Given the description of an element on the screen output the (x, y) to click on. 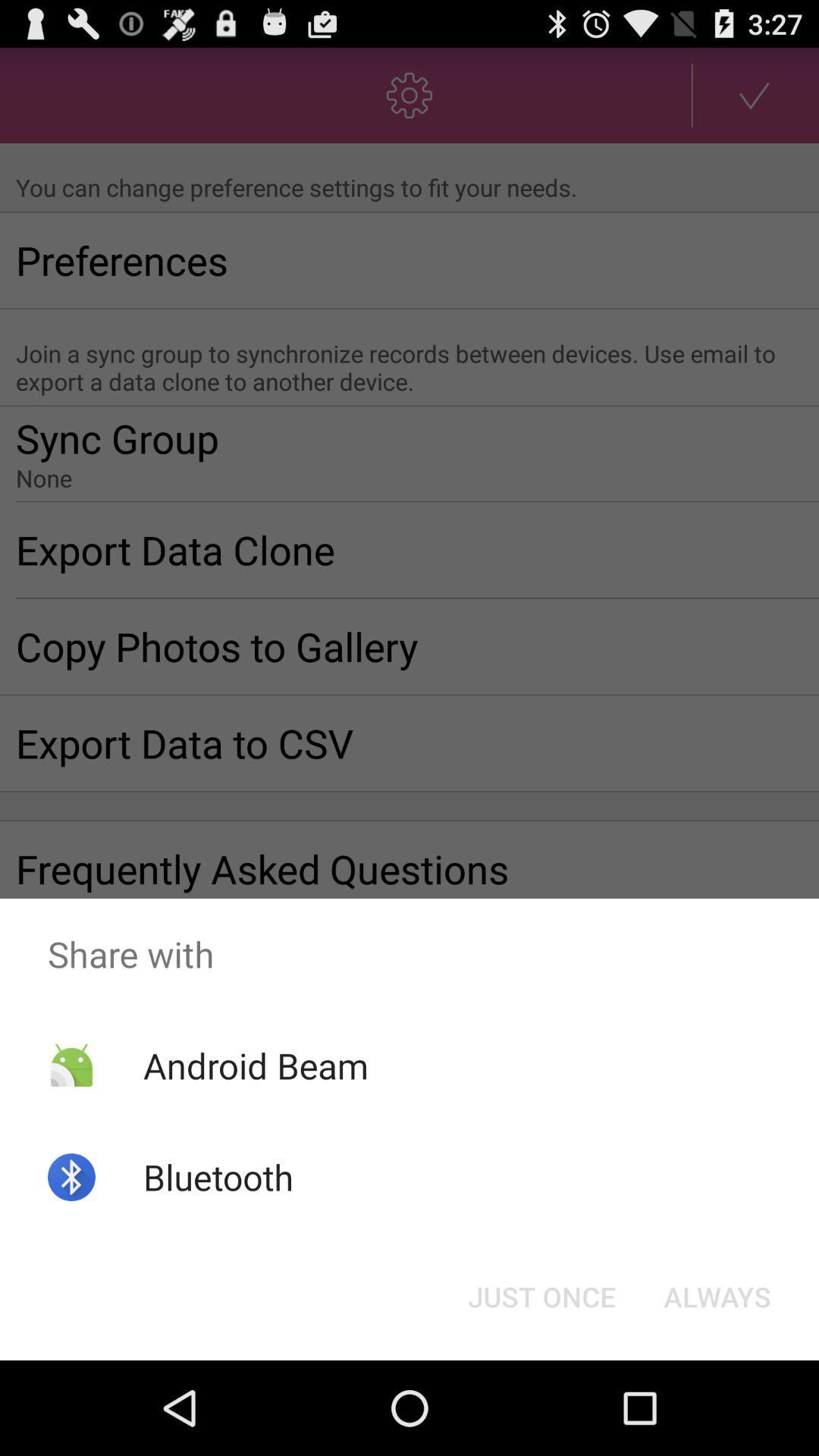
jump until the android beam (255, 1065)
